Given the description of an element on the screen output the (x, y) to click on. 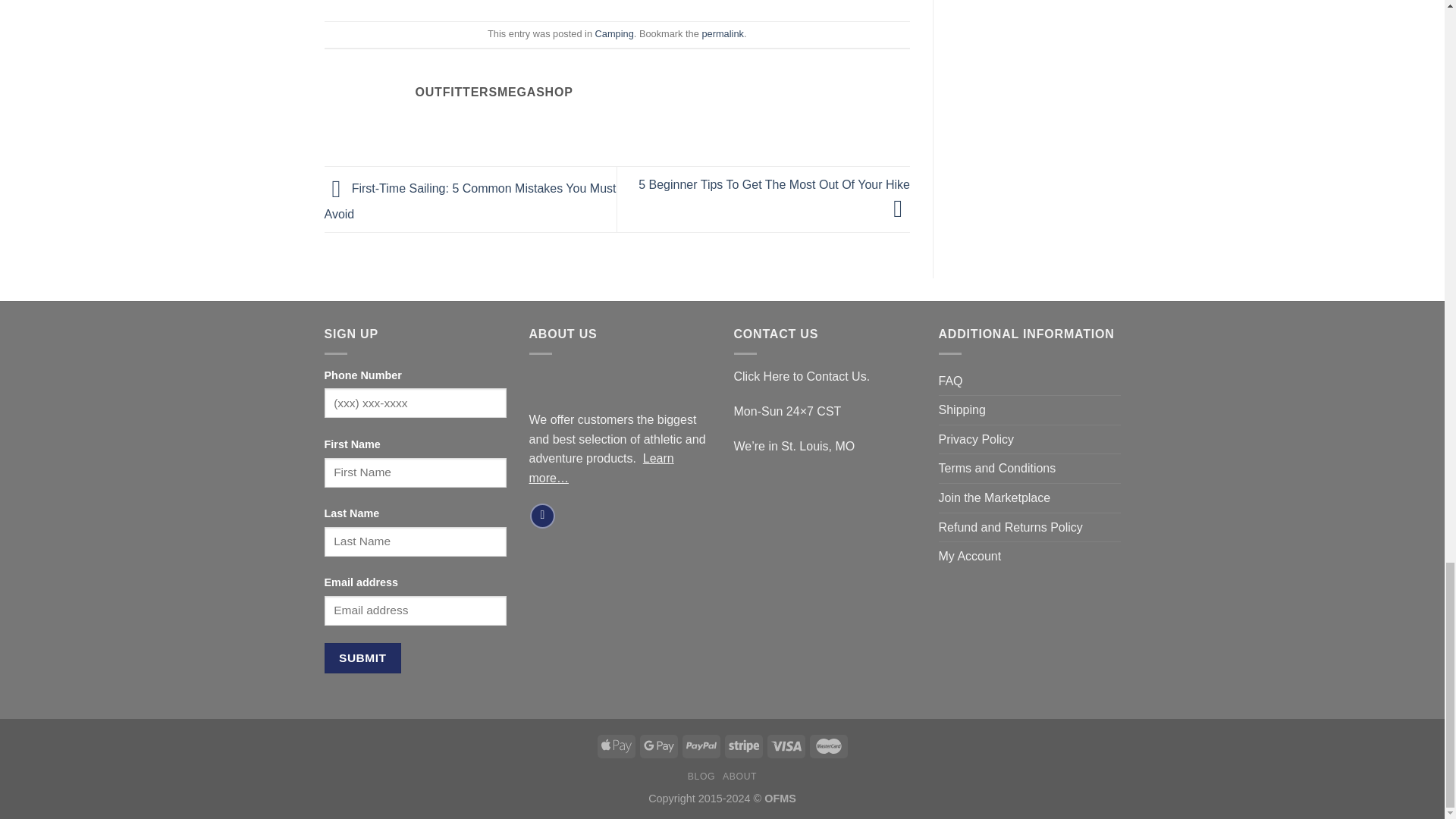
Camping (614, 33)
5 Beginner Tips To Get The Most Out Of Your Hike (774, 196)
Submit (362, 657)
permalink (721, 33)
First-Time Sailing: 5 Common Mistakes You Must Avoid (469, 201)
